Given the description of an element on the screen output the (x, y) to click on. 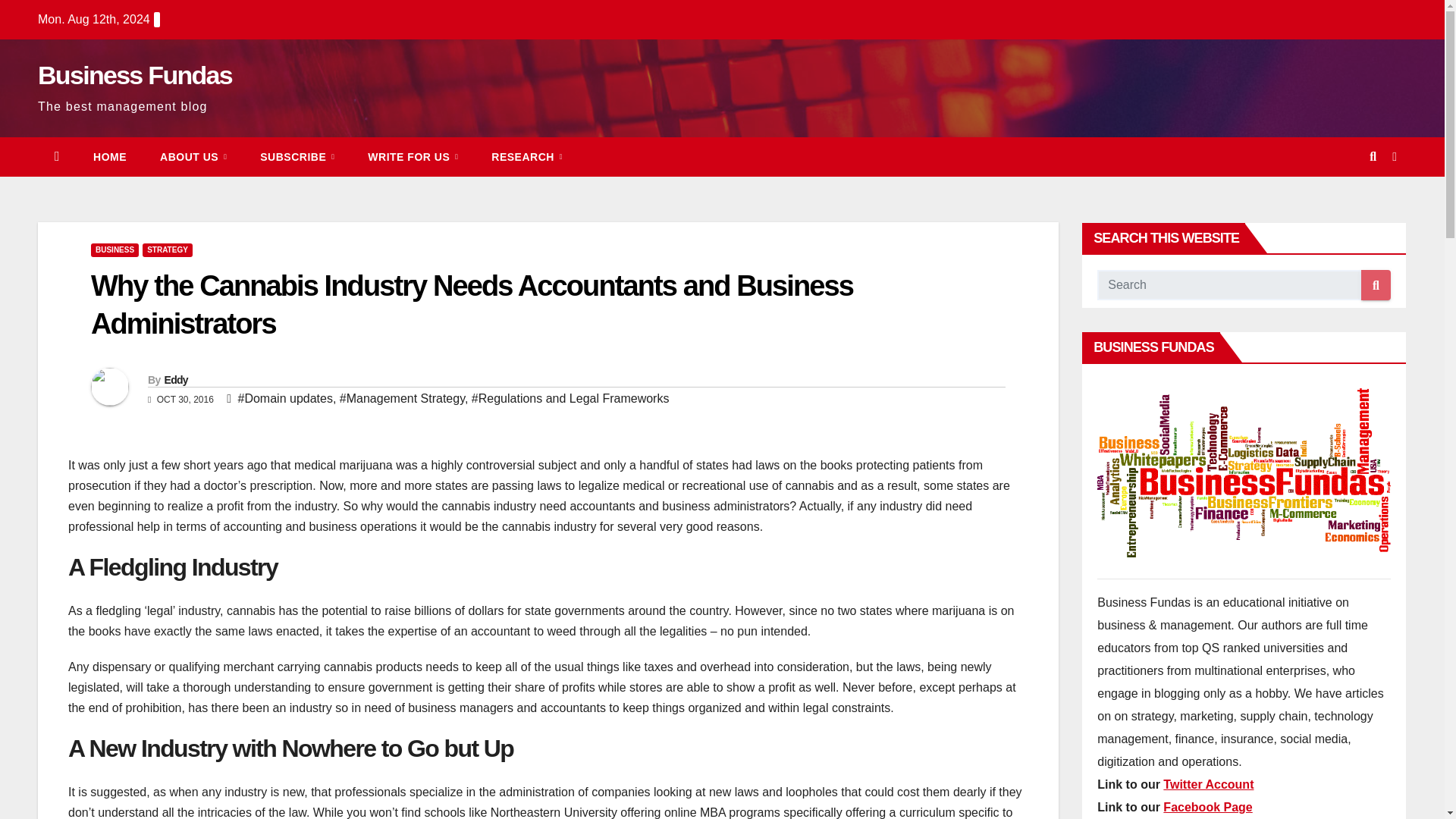
About Us (192, 156)
Eddy (175, 379)
BUSINESS (114, 250)
HOME (109, 156)
Home (109, 156)
Subscribe (296, 156)
ABOUT US (192, 156)
WRITE FOR US (412, 156)
RESEARCH (526, 156)
SUBSCRIBE (296, 156)
